Given the description of an element on the screen output the (x, y) to click on. 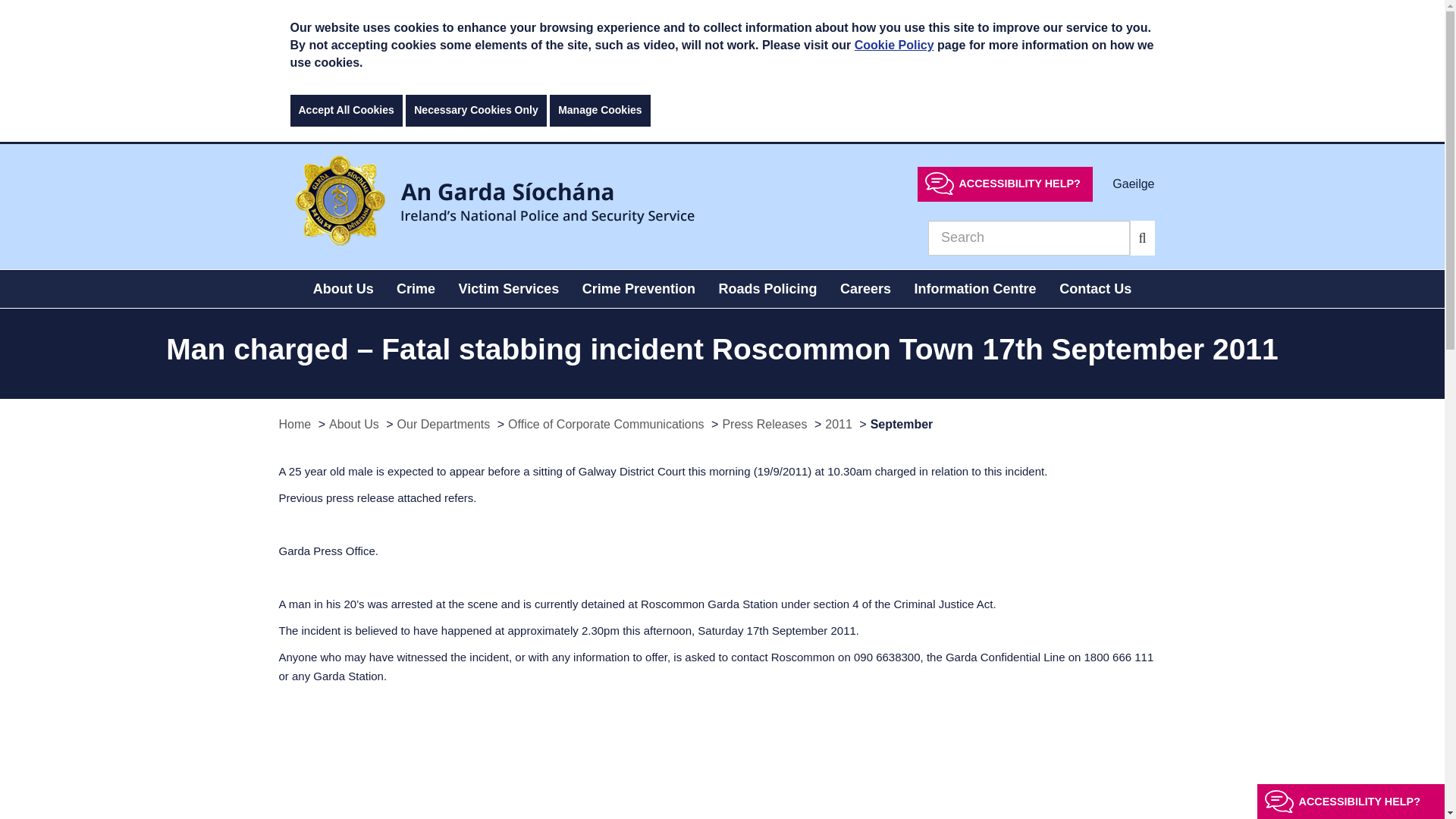
About Us (343, 288)
Accept All Cookies (345, 110)
Necessary Cookies Only (476, 110)
ACCESSIBILITY HELP? (1005, 184)
search button (1141, 237)
Cookie Policy (894, 44)
Crime (415, 288)
Manage Cookies (599, 110)
Gaeilge (1133, 182)
